Given the description of an element on the screen output the (x, y) to click on. 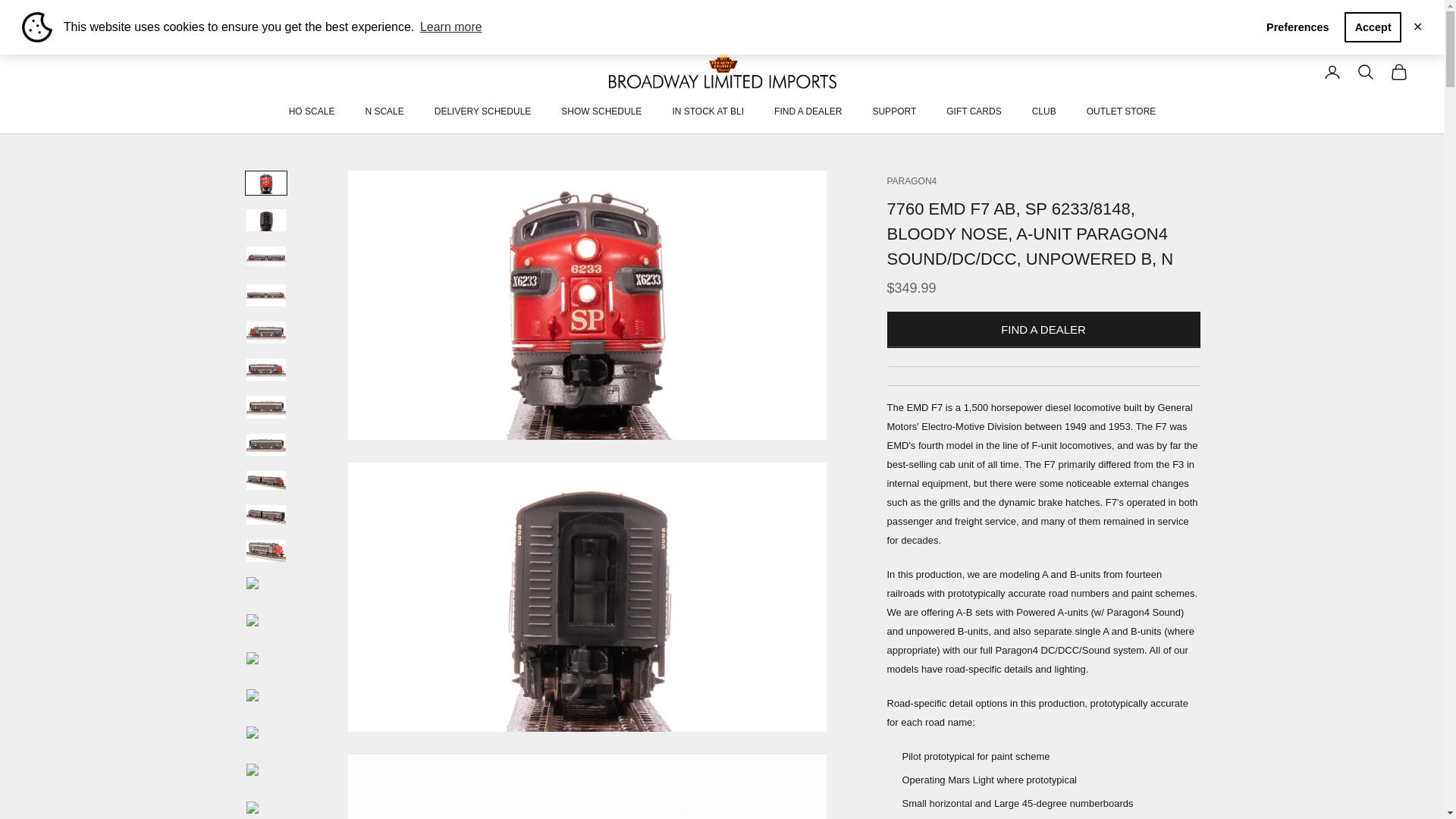
SHOW SCHEDULE (601, 111)
Preferences (1297, 27)
Broadway Limited Imports (721, 71)
DELIVERY SCHEDULE (482, 111)
Learn more (450, 26)
Accept (1371, 27)
